Given the description of an element on the screen output the (x, y) to click on. 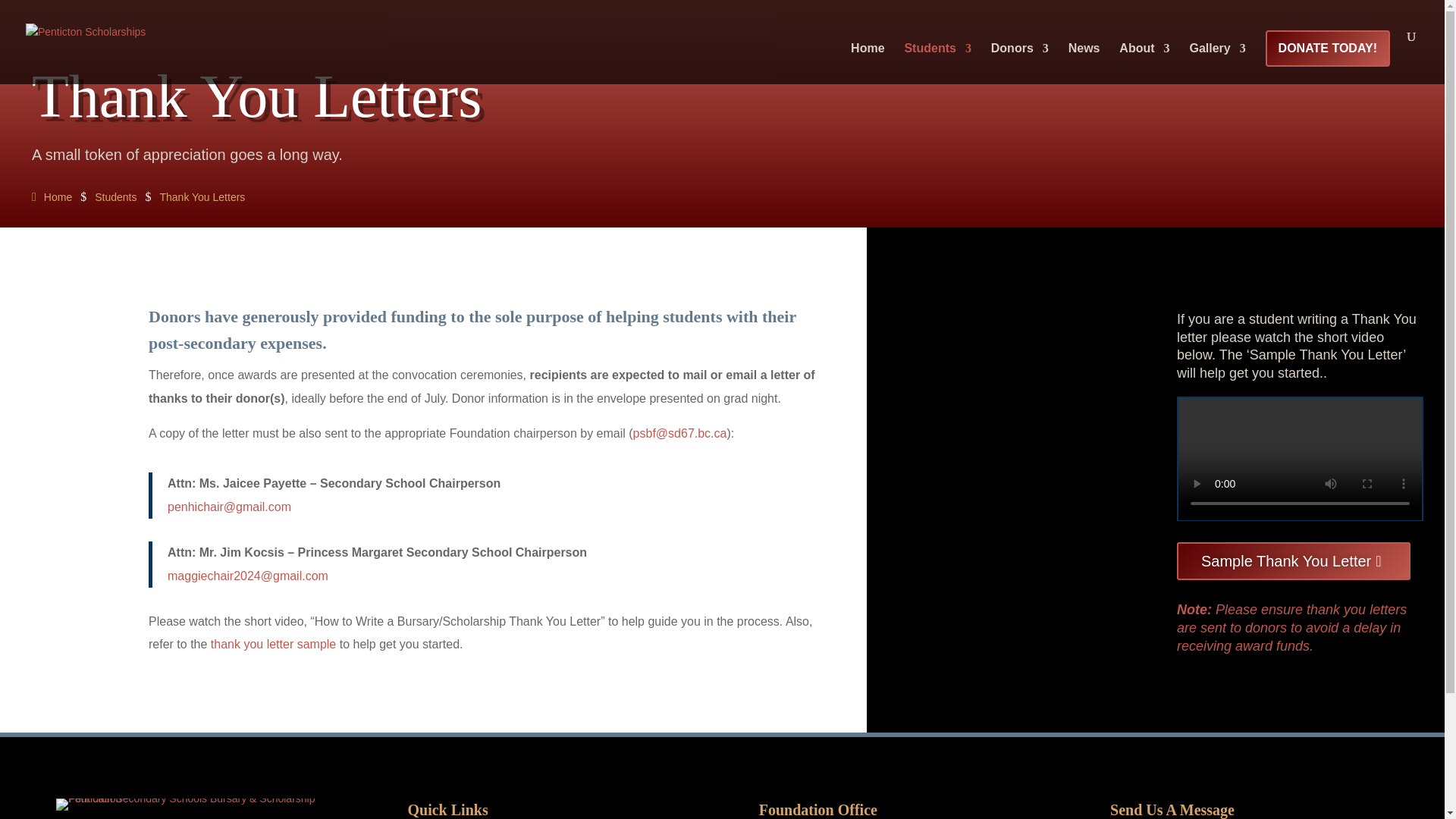
PSSBSF Logo (195, 804)
Sample Thank You Letter (1293, 560)
Home (51, 197)
Gallery (1216, 63)
Students (937, 63)
About (1144, 63)
thank you letter sample (273, 644)
Donors (1019, 63)
DONATE TODAY! (1327, 48)
Students (115, 197)
